Given the description of an element on the screen output the (x, y) to click on. 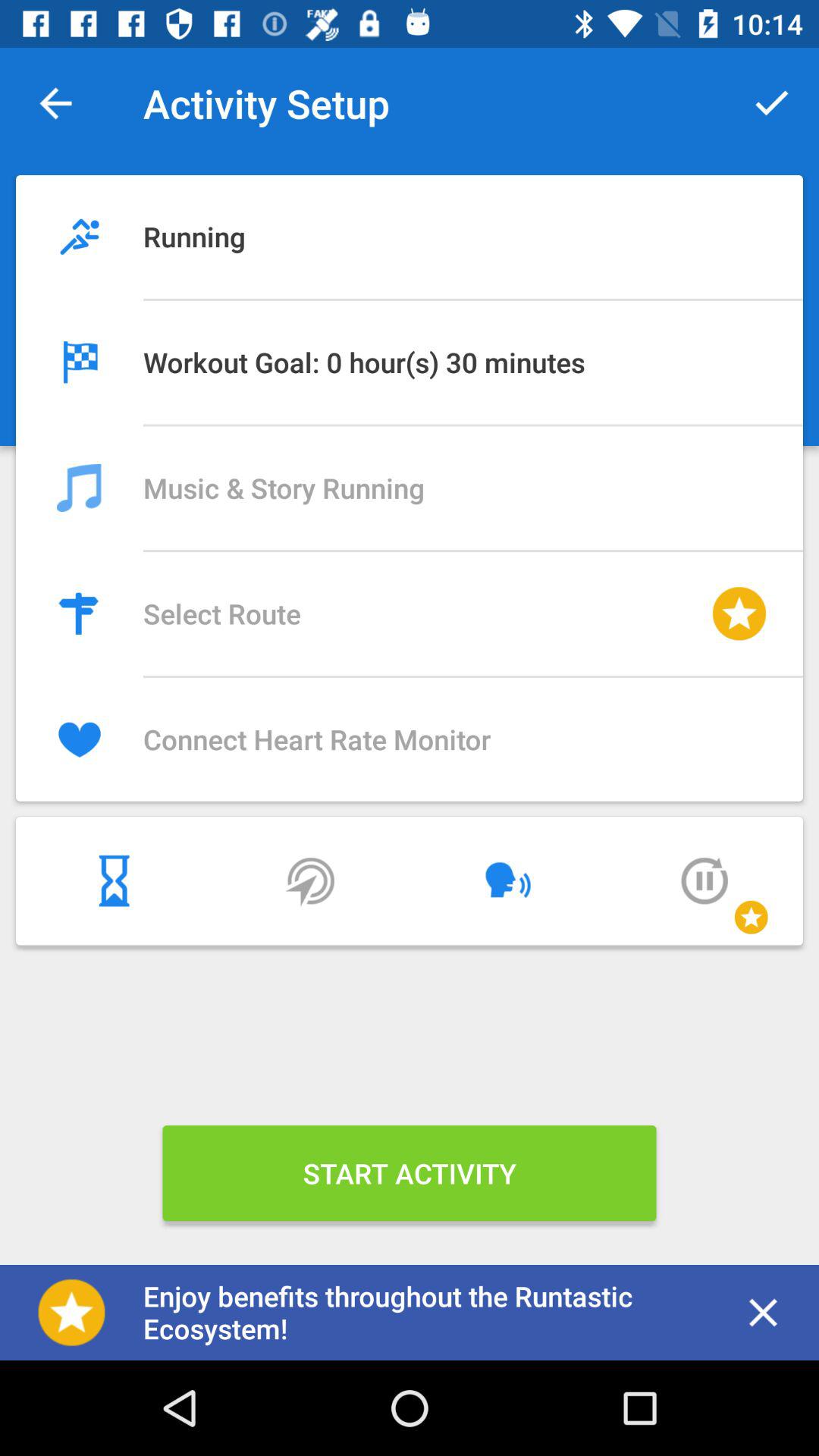
launch the icon at the top right corner (771, 103)
